Given the description of an element on the screen output the (x, y) to click on. 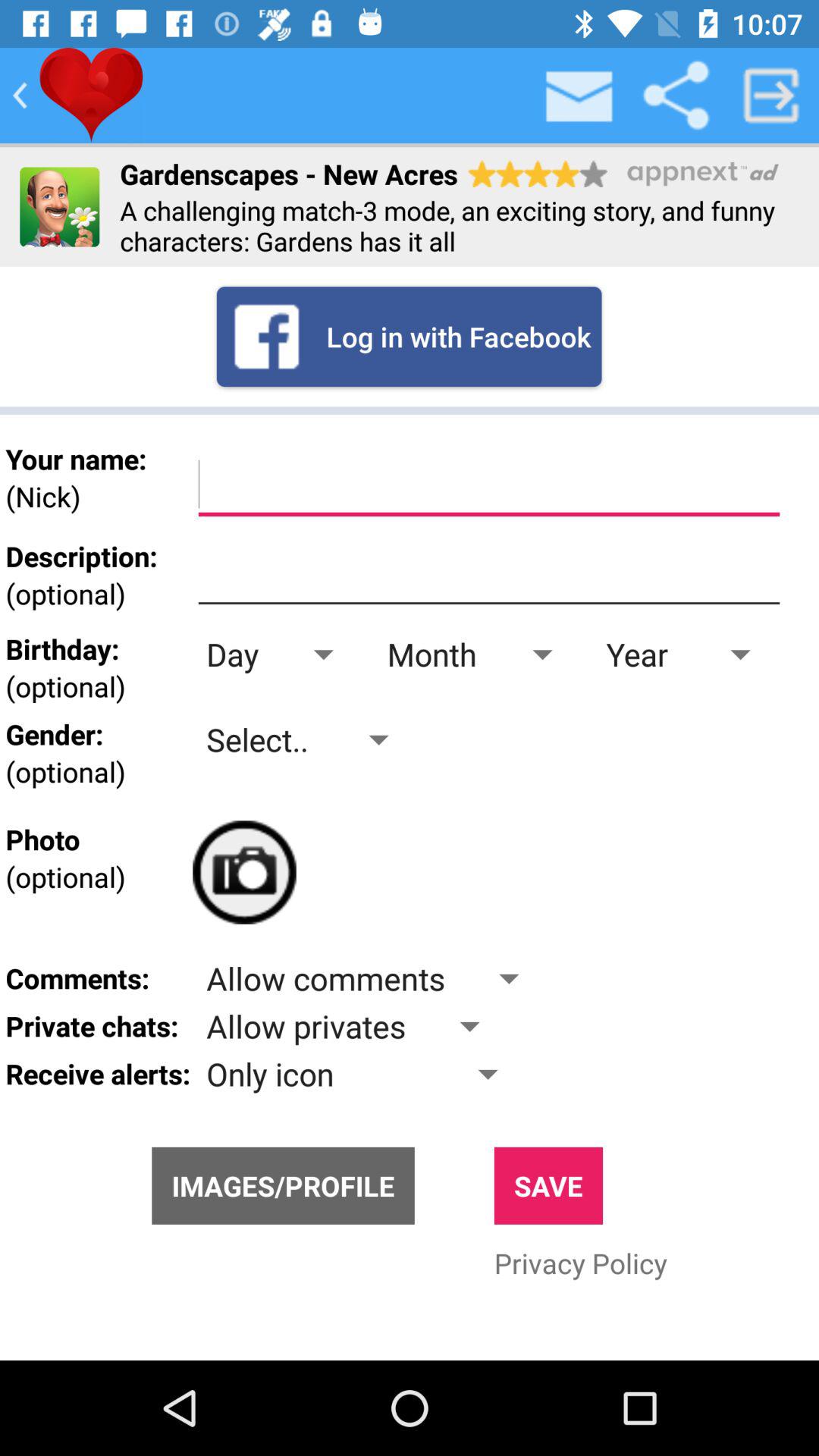
text box to enter (488, 485)
